Given the description of an element on the screen output the (x, y) to click on. 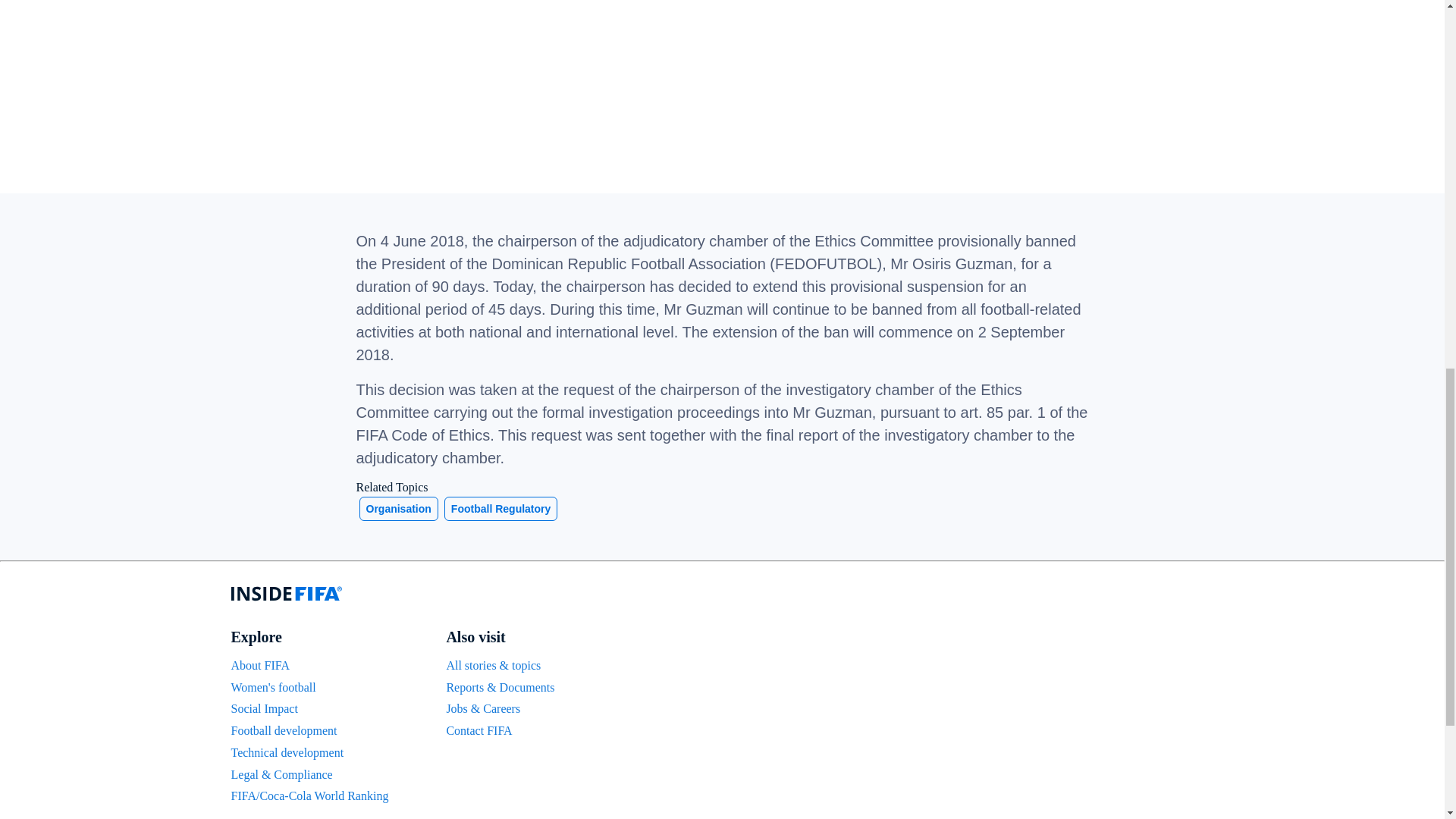
Football Regulatory (500, 508)
Football development (283, 730)
Technical development (286, 752)
Women's football (272, 686)
Social Impact (263, 707)
Contact FIFA (478, 730)
Organisation (398, 508)
About FIFA (259, 665)
